Given the description of an element on the screen output the (x, y) to click on. 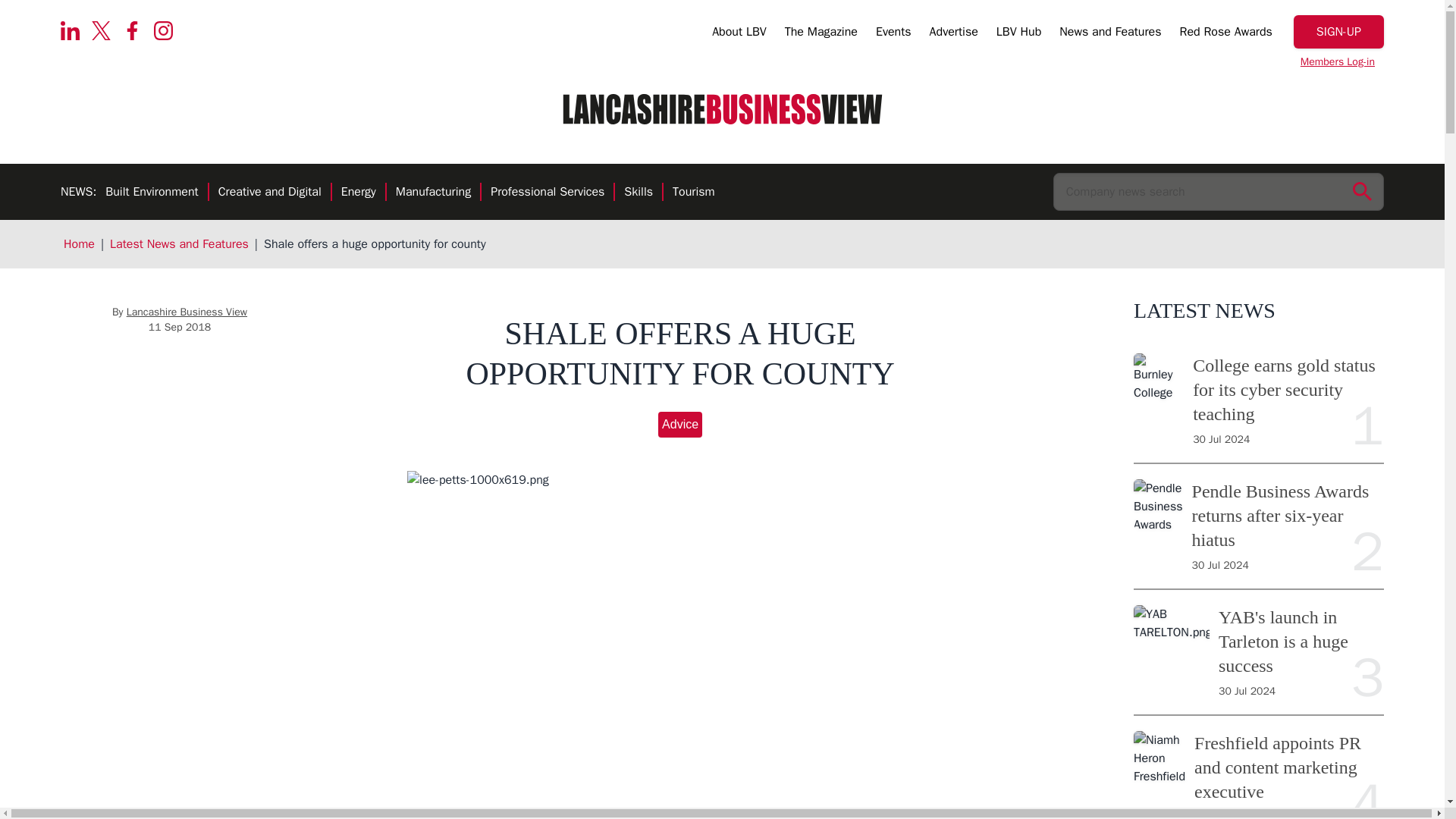
Skills (638, 192)
Advertise (954, 34)
SIGN-UP (1339, 31)
Built Environment (151, 192)
Red Rose Awards (1225, 34)
LBV Hub (1018, 34)
Manufacturing (433, 192)
Energy (357, 192)
The Magazine (820, 34)
Members Log-in (1337, 61)
Tourism (693, 192)
About LBV (739, 34)
News and Features (1109, 34)
Creative and Digital (269, 192)
Events (893, 34)
